Given the description of an element on the screen output the (x, y) to click on. 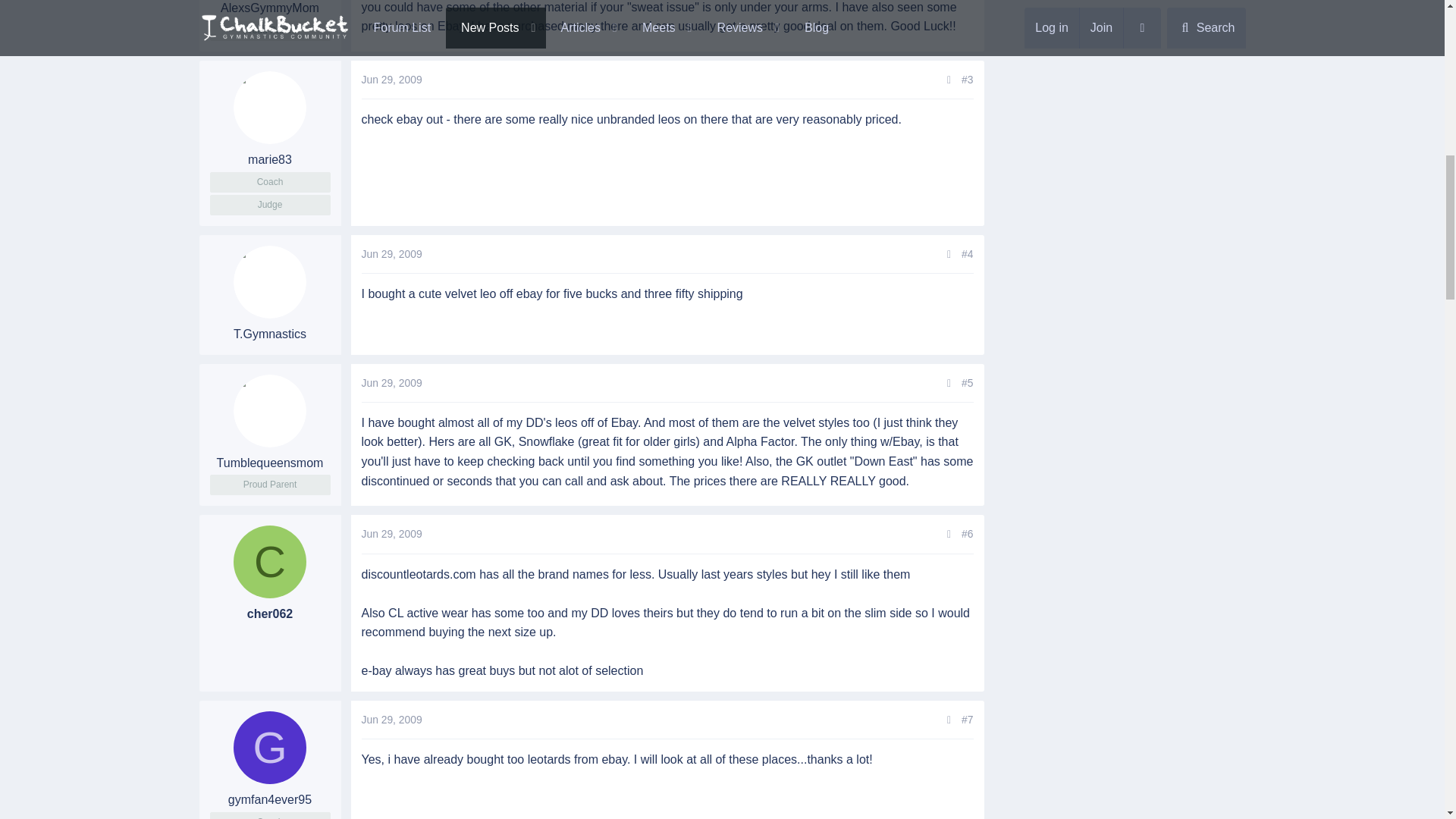
Jun 29, 2009 at 1:28 PM (391, 382)
Jun 29, 2009 at 3:23 PM (391, 533)
Jun 29, 2009 at 4:20 PM (391, 719)
Jun 29, 2009 at 9:55 AM (391, 254)
cher062 (268, 561)
Jun 29, 2009 at 9:49 AM (391, 79)
